Given the description of an element on the screen output the (x, y) to click on. 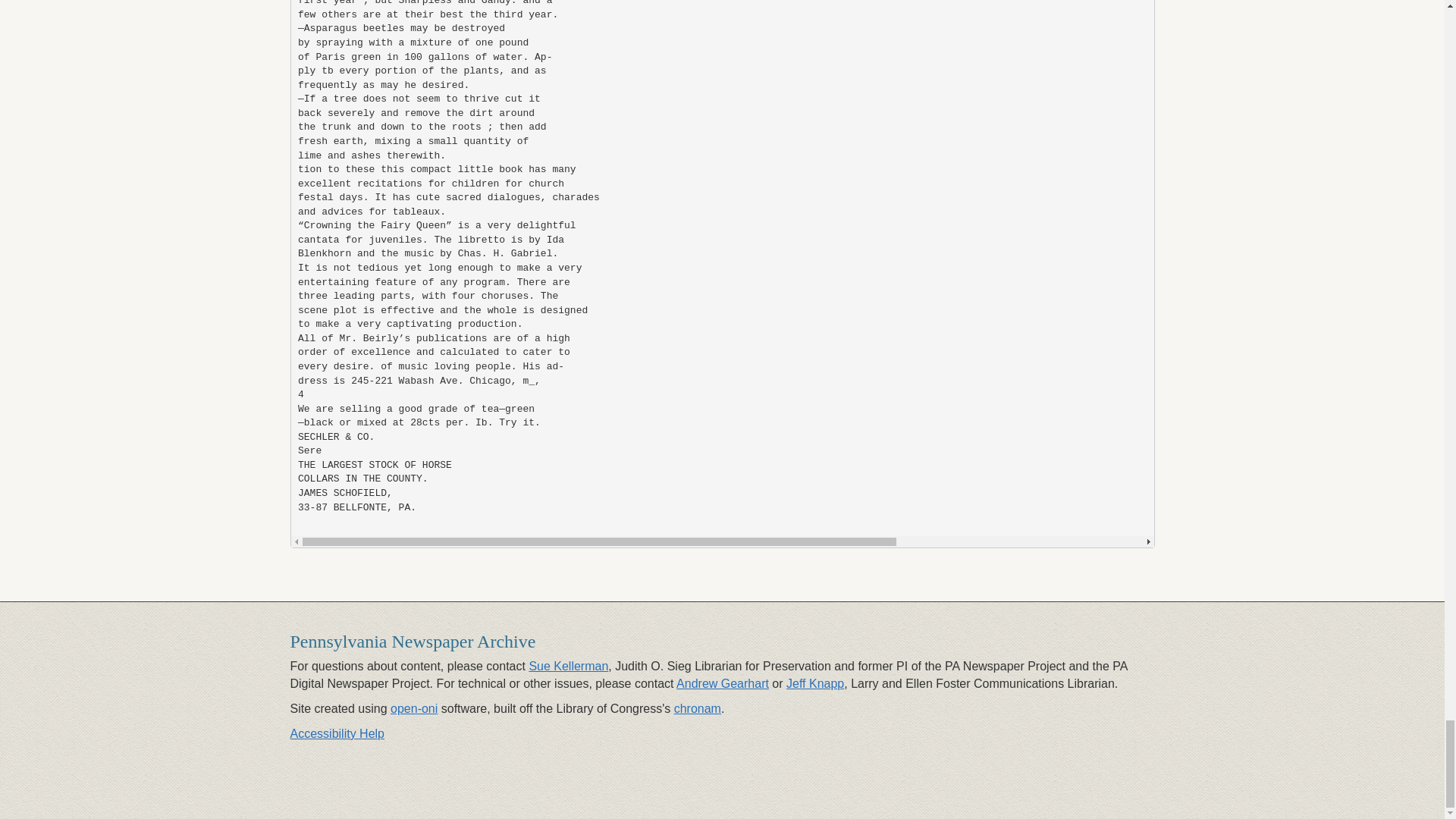
Jeff Knapp (815, 683)
open-oni (414, 707)
Andrew Gearhart (722, 683)
Sue Kellerman (568, 666)
chronam (697, 707)
Accessibility Help (336, 733)
